Given the description of an element on the screen output the (x, y) to click on. 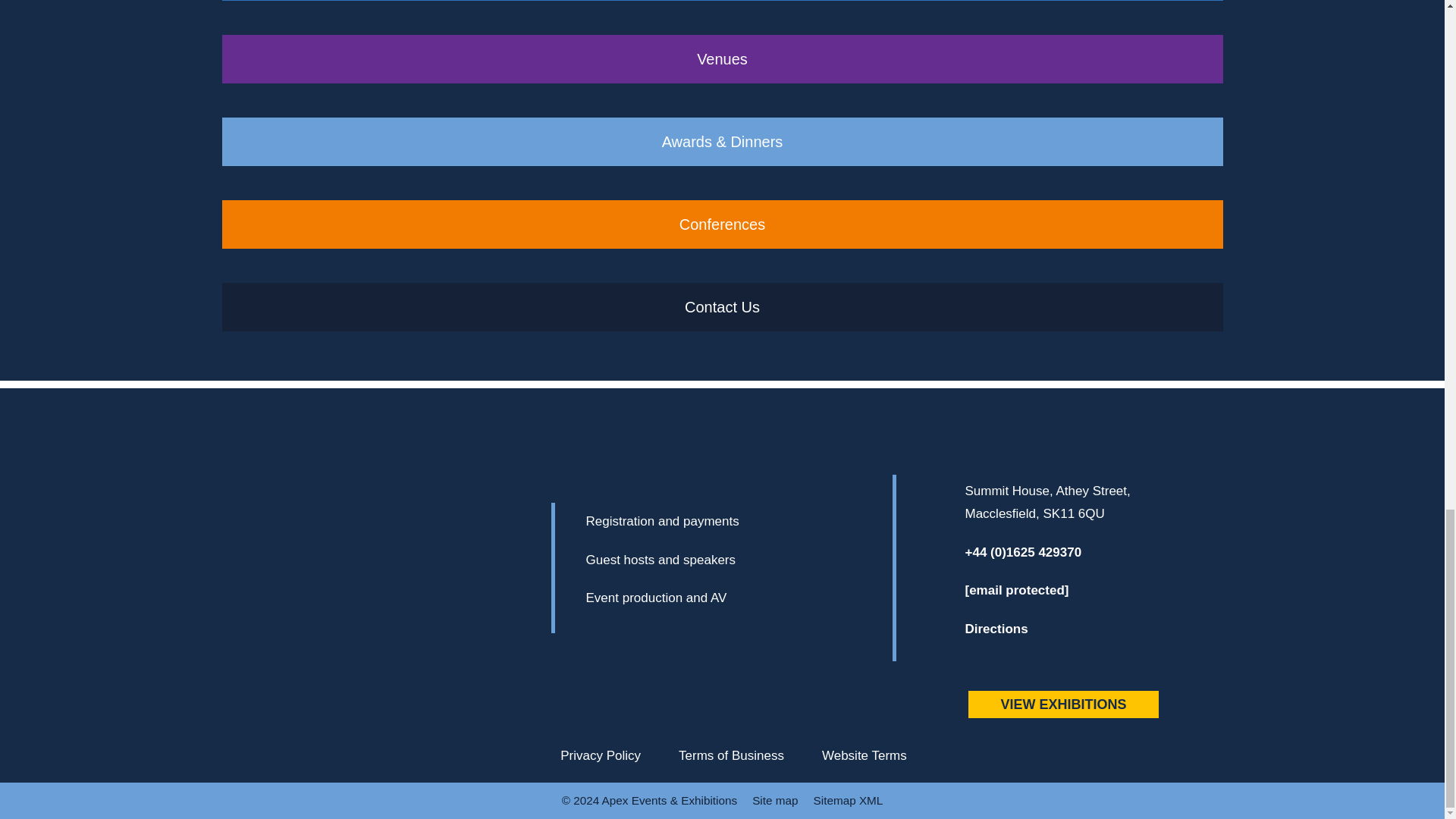
Directions (1085, 633)
Conferences (722, 223)
Contact Us (722, 306)
Venues (722, 59)
Guest hosts and speakers (693, 563)
Registration and payments (693, 525)
Event production and AV (693, 602)
